Given the description of an element on the screen output the (x, y) to click on. 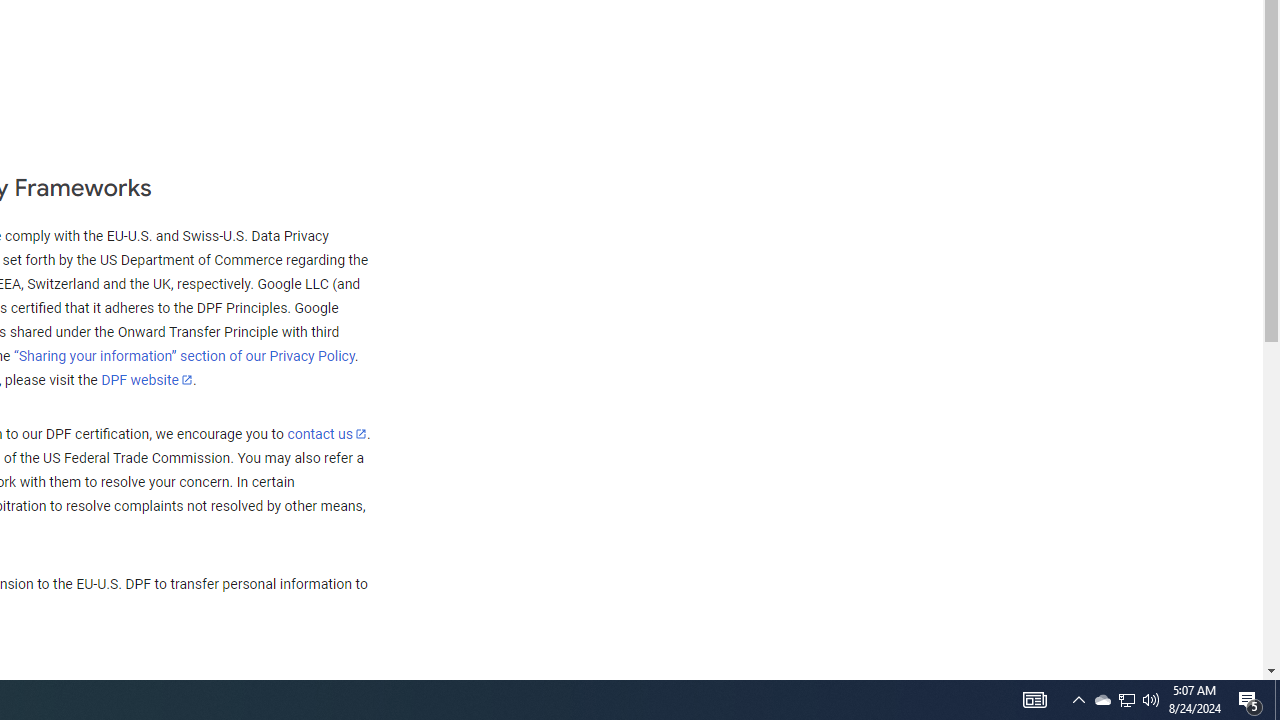
DPF website (147, 379)
contact us (326, 433)
